Given the description of an element on the screen output the (x, y) to click on. 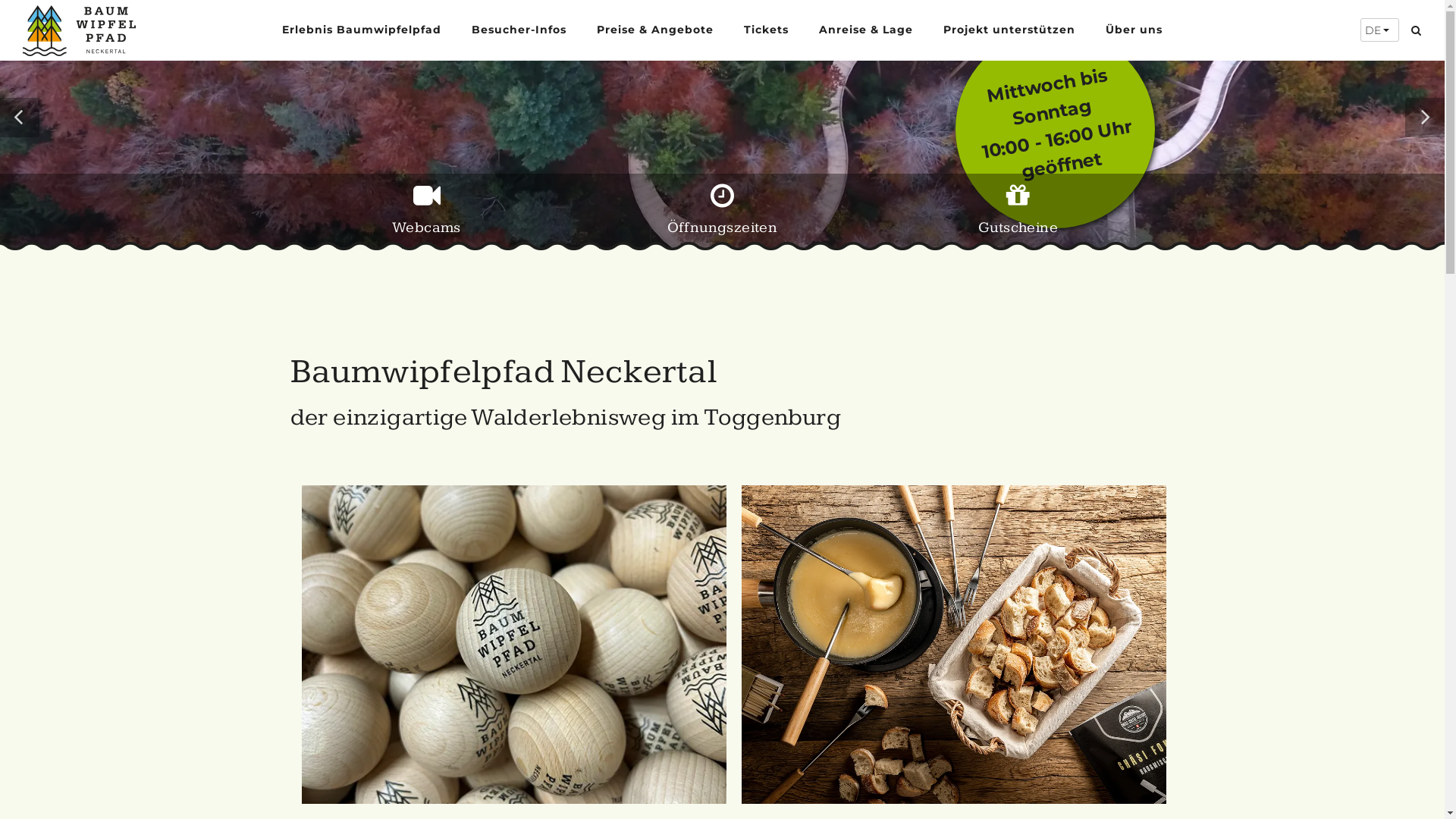
Anreise & Lage Element type: text (865, 29)
Preise & Angebote Element type: text (655, 29)
Besucher-Infos Element type: text (519, 29)
Erlebnis Baumwipfelpfad Element type: text (361, 29)
Tickets Element type: text (766, 29)
Gutscheine Element type: text (1017, 216)
DE 
  Element type: text (1379, 29)
Die eigene Kugel rollt am schnellsten! Element type: hover (513, 644)
Webcams Element type: text (425, 216)
Einmaliges Fondueerlebnis Element type: hover (953, 644)
